Given the description of an element on the screen output the (x, y) to click on. 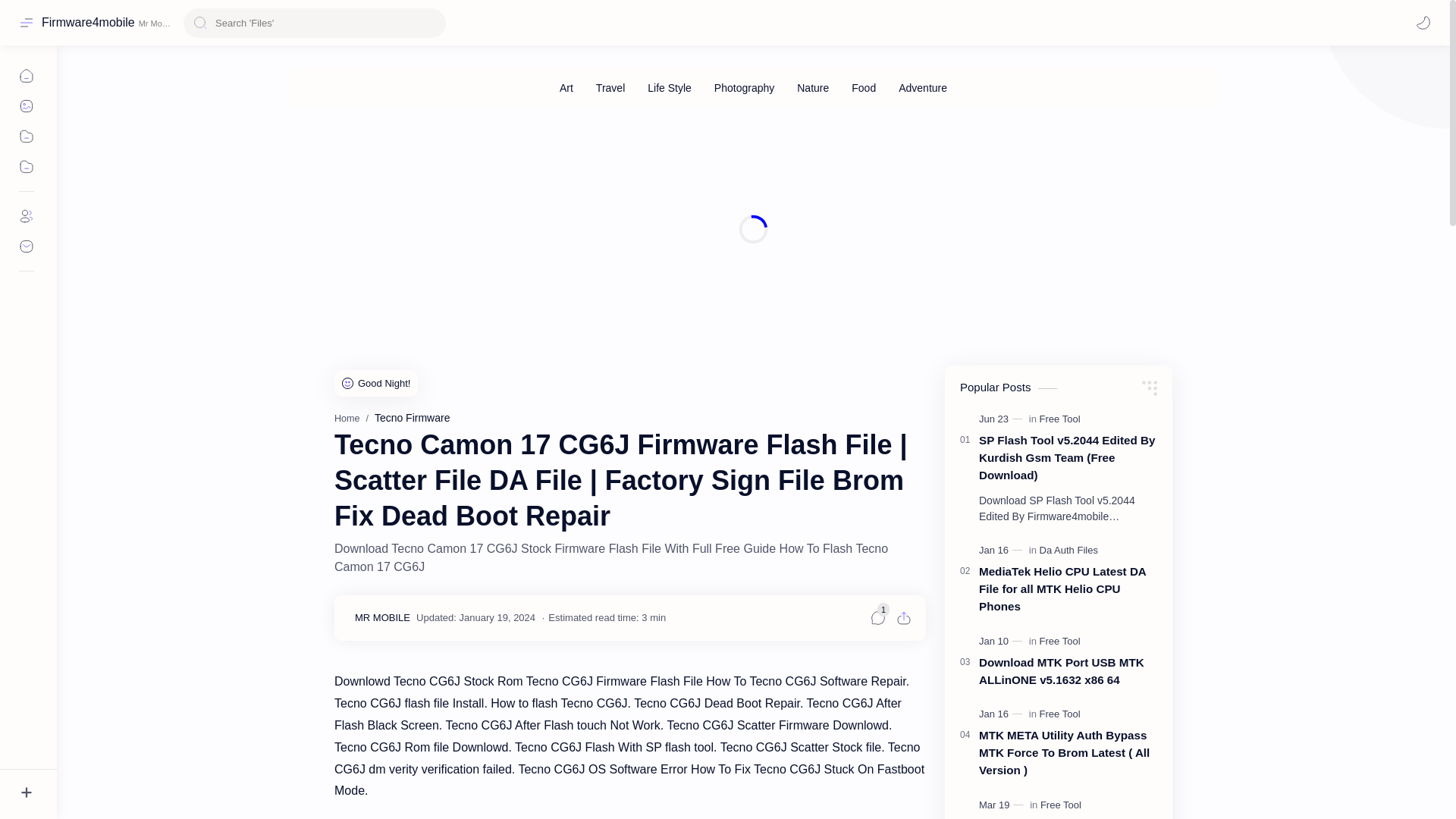
Published: January 16, 2022 (1002, 550)
Published: March 19, 2022 (1002, 805)
Home (346, 418)
Last updated: January 19, 2024 (475, 617)
Tecno Firmware (411, 417)
Published: June 23, 2022 (1002, 418)
Published: January 16, 2022 (1002, 714)
Firmware4mobile (88, 22)
Published: January 10, 2022 (1002, 641)
